Given the description of an element on the screen output the (x, y) to click on. 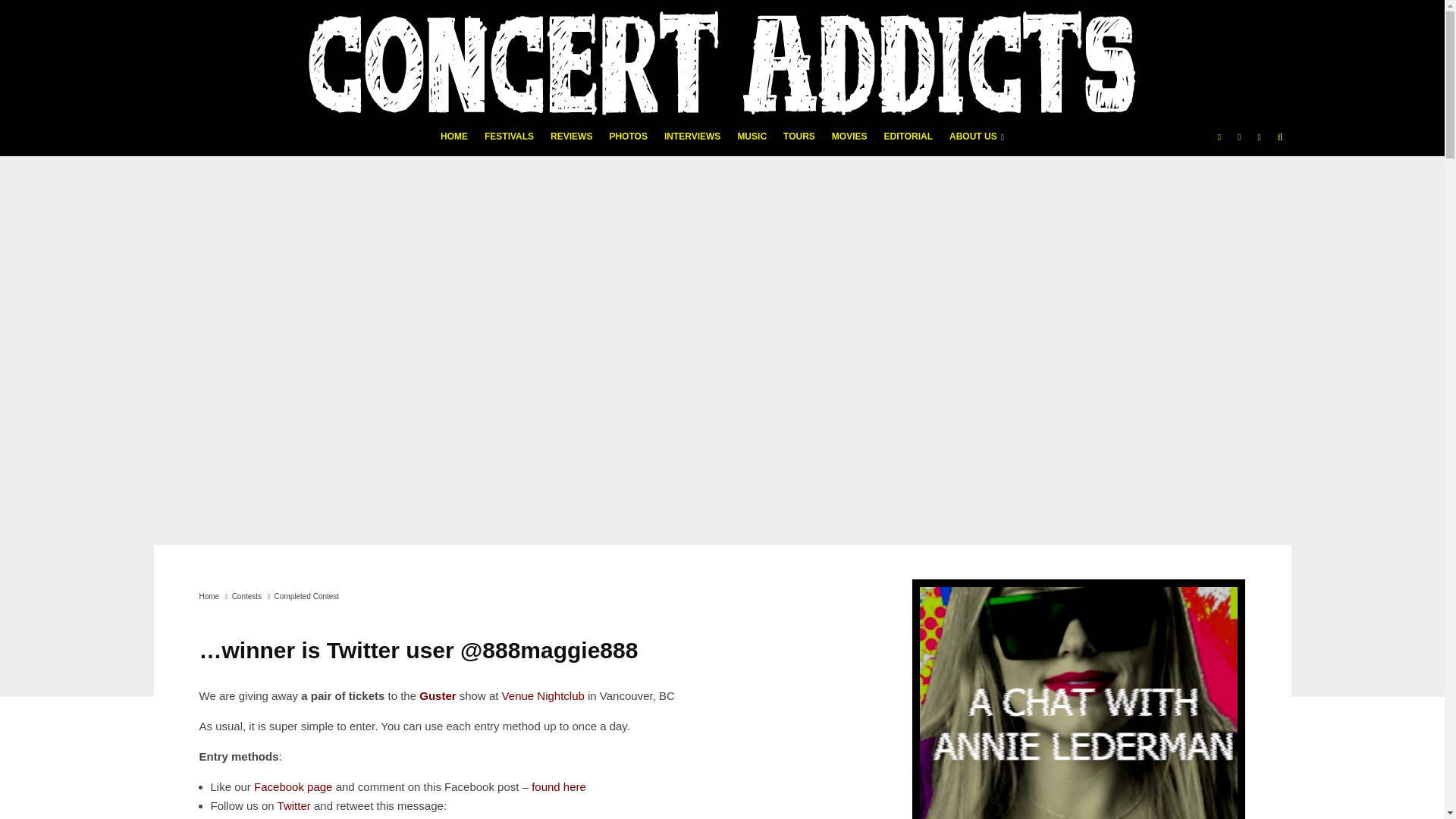
PHOTOS (627, 141)
FESTIVALS (508, 141)
REVIEWS (570, 141)
HOME (454, 141)
INTERVIEWS (692, 141)
